Given the description of an element on the screen output the (x, y) to click on. 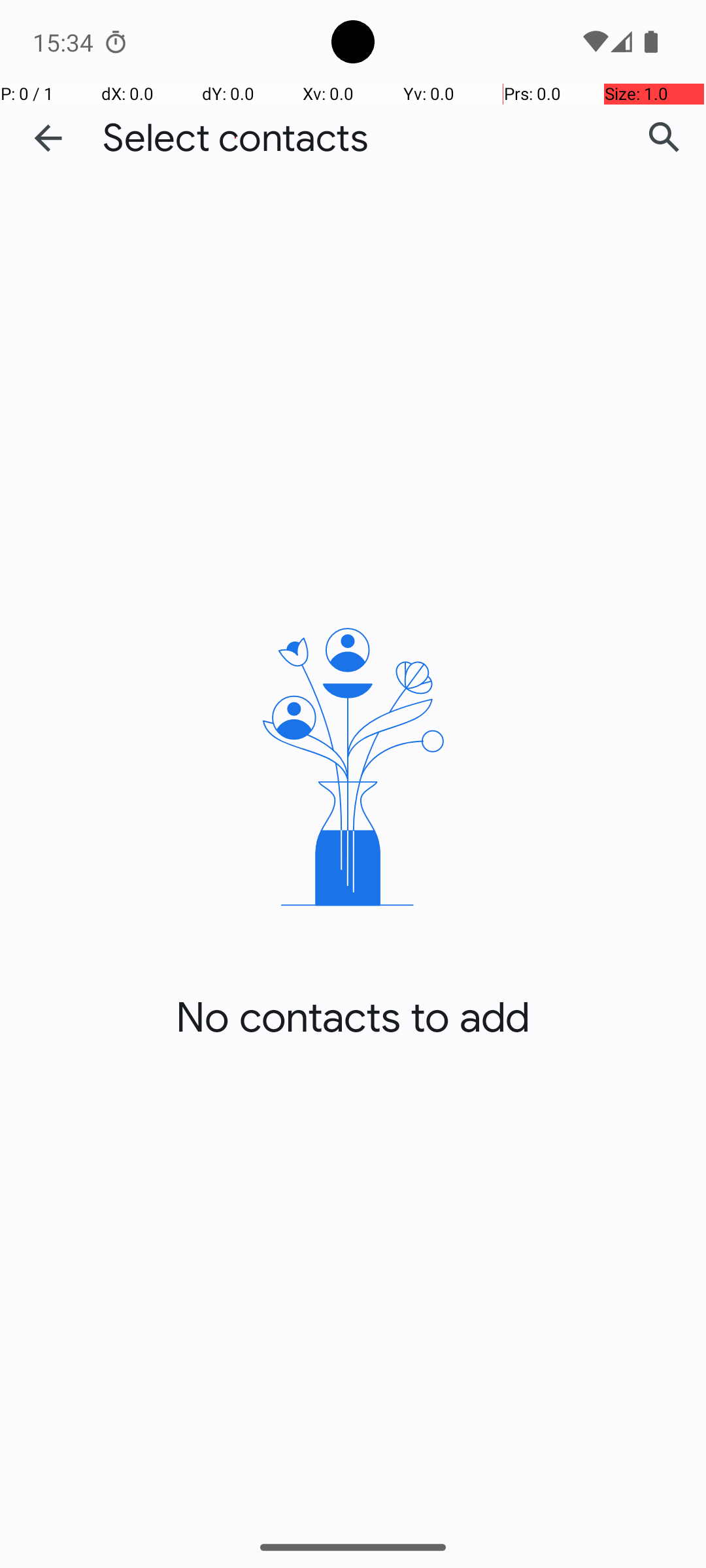
Select contacts Element type: android.widget.TextView (235, 138)
Search contacts Element type: android.widget.Button (664, 137)
No contacts to add Element type: android.widget.TextView (352, 1017)
